Given the description of an element on the screen output the (x, y) to click on. 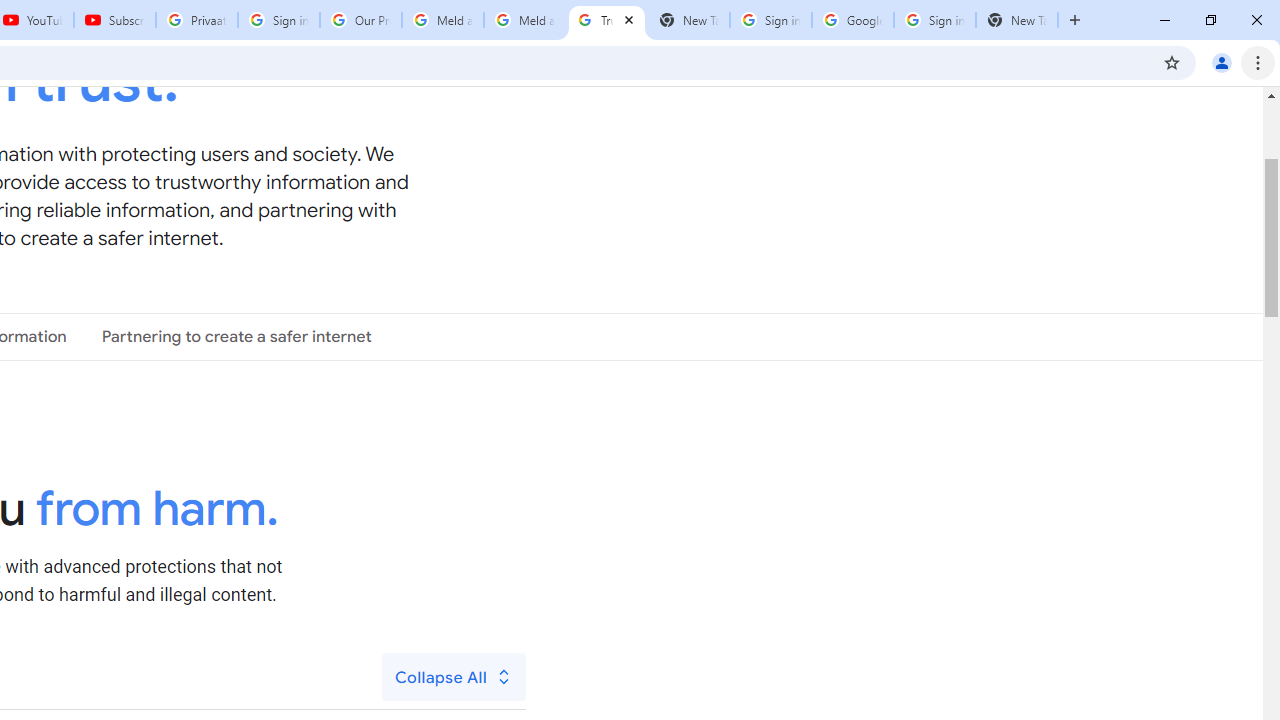
Sign in - Google Accounts (278, 20)
Partnering to create a safer internet (236, 336)
Subscriptions - YouTube (115, 20)
Collapse All (454, 677)
Google Cybersecurity Innovations - Google Safety Center (852, 20)
Sign in - Google Accounts (770, 20)
Sign in - Google Accounts (934, 20)
New Tab (1016, 20)
